Given the description of an element on the screen output the (x, y) to click on. 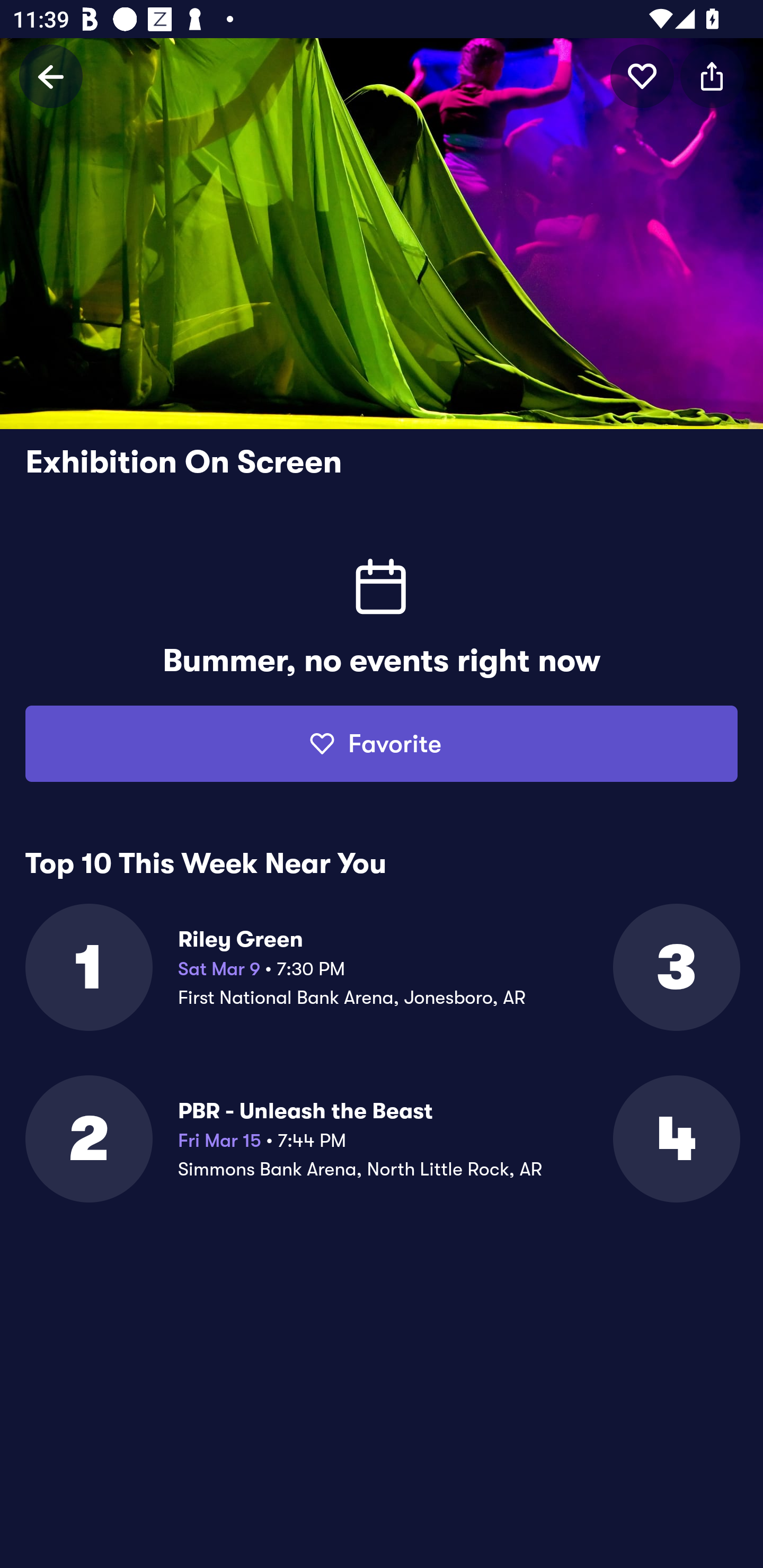
Back (50, 75)
icon button (641, 75)
icon button (711, 75)
Favorite (381, 743)
3 (675, 967)
4 (675, 1138)
